Given the description of an element on the screen output the (x, y) to click on. 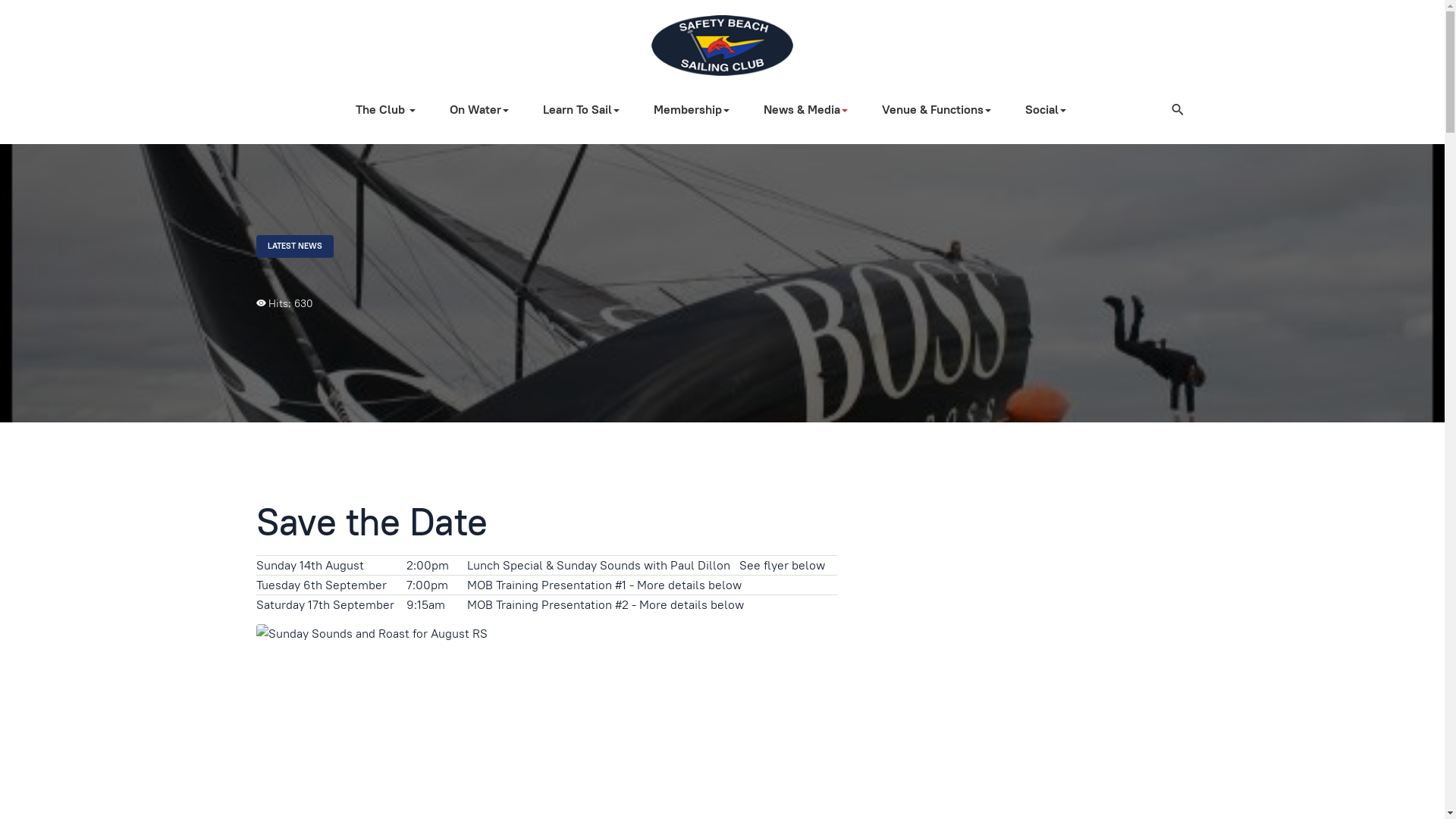
SBSC Element type: hover (721, 45)
The Club Element type: text (390, 109)
LATEST NEWS Element type: text (294, 246)
